Given the description of an element on the screen output the (x, y) to click on. 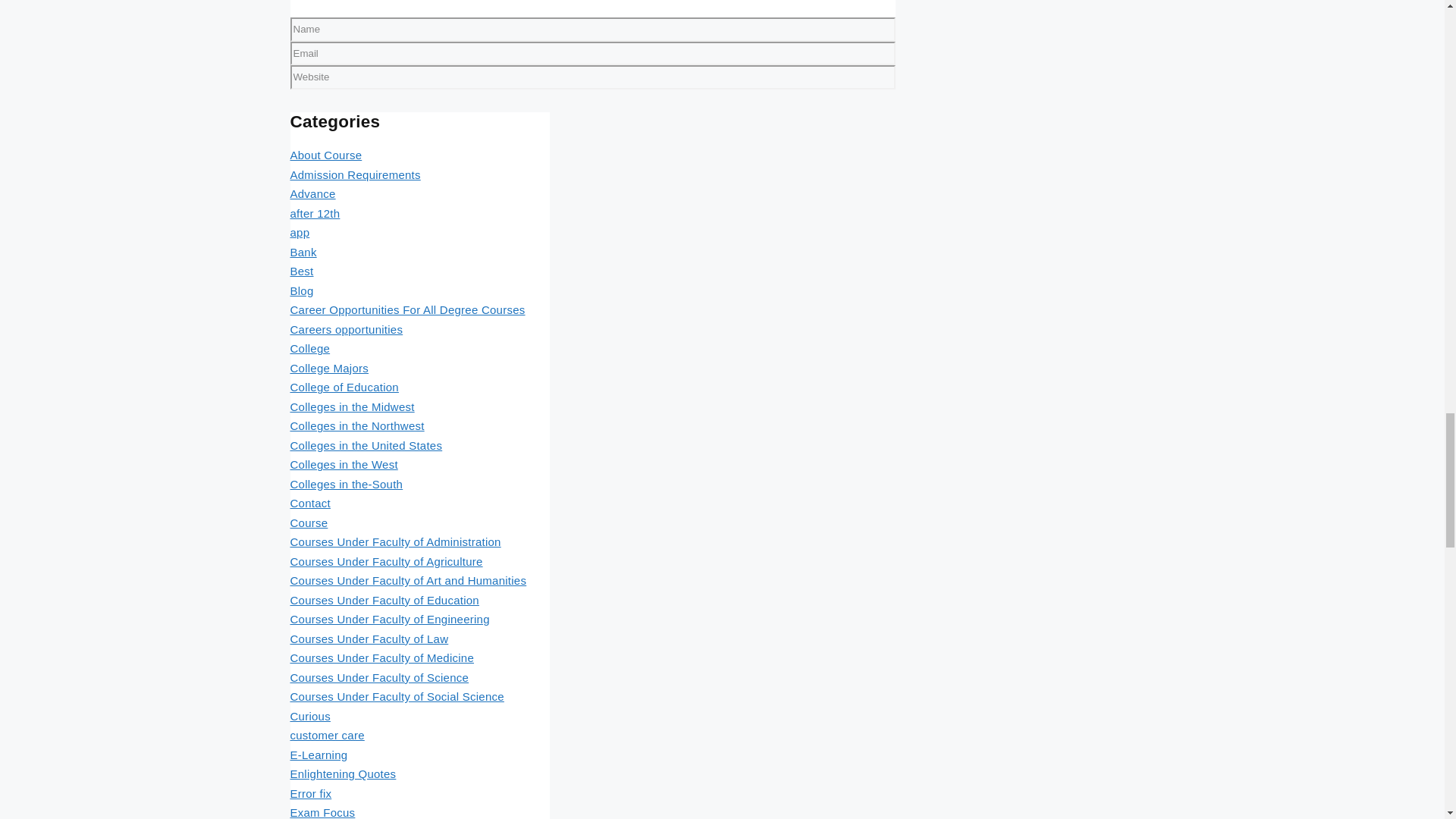
College of Education (343, 386)
Blog (301, 290)
Best (301, 270)
Careers opportunities (346, 328)
College (309, 348)
Bank (302, 251)
after 12th (314, 213)
Admission Requirements (354, 174)
About Course (325, 154)
College Majors (328, 367)
